Given the description of an element on the screen output the (x, y) to click on. 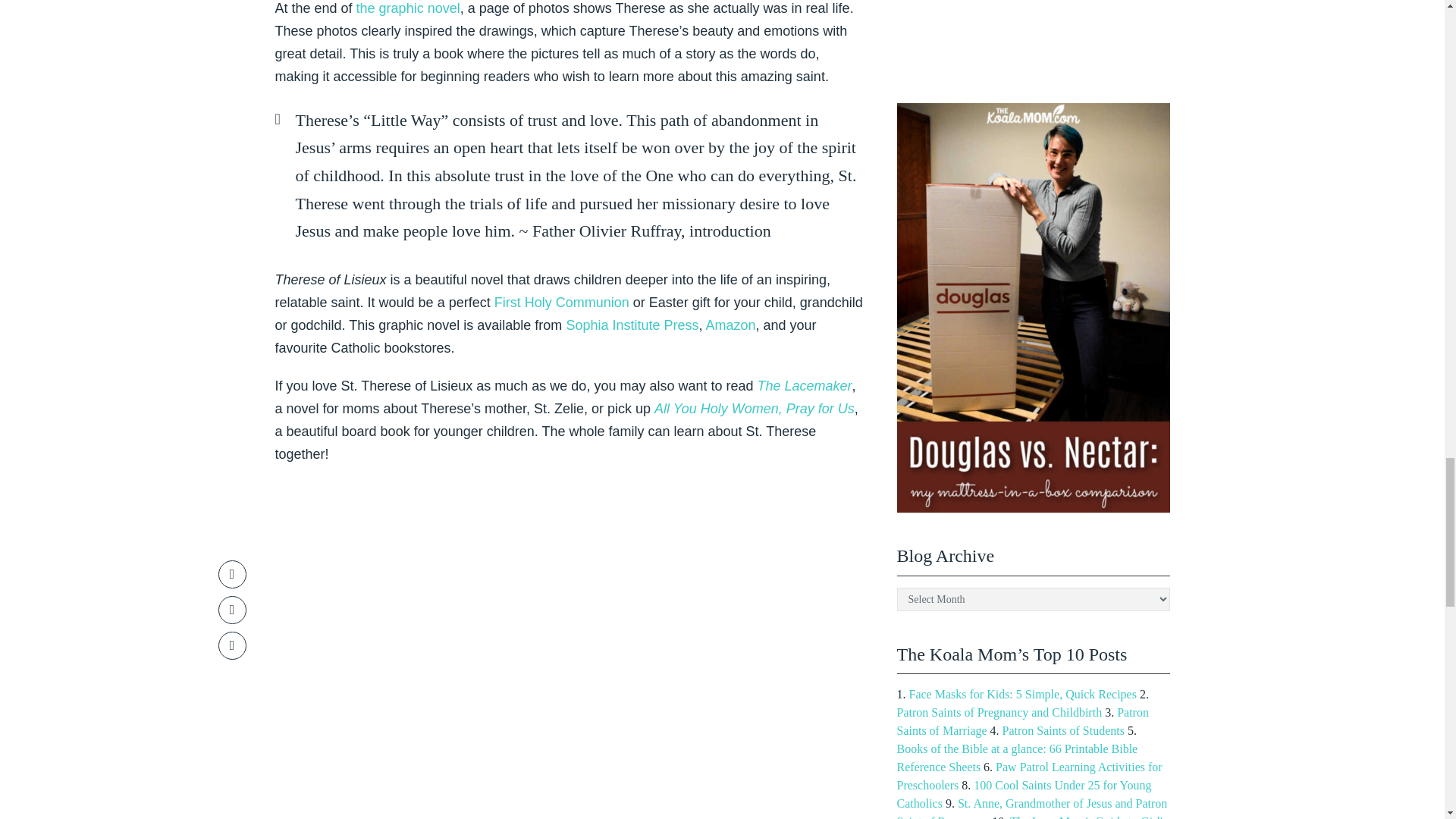
free resources for subscribers! (1032, 31)
